Given the description of an element on the screen output the (x, y) to click on. 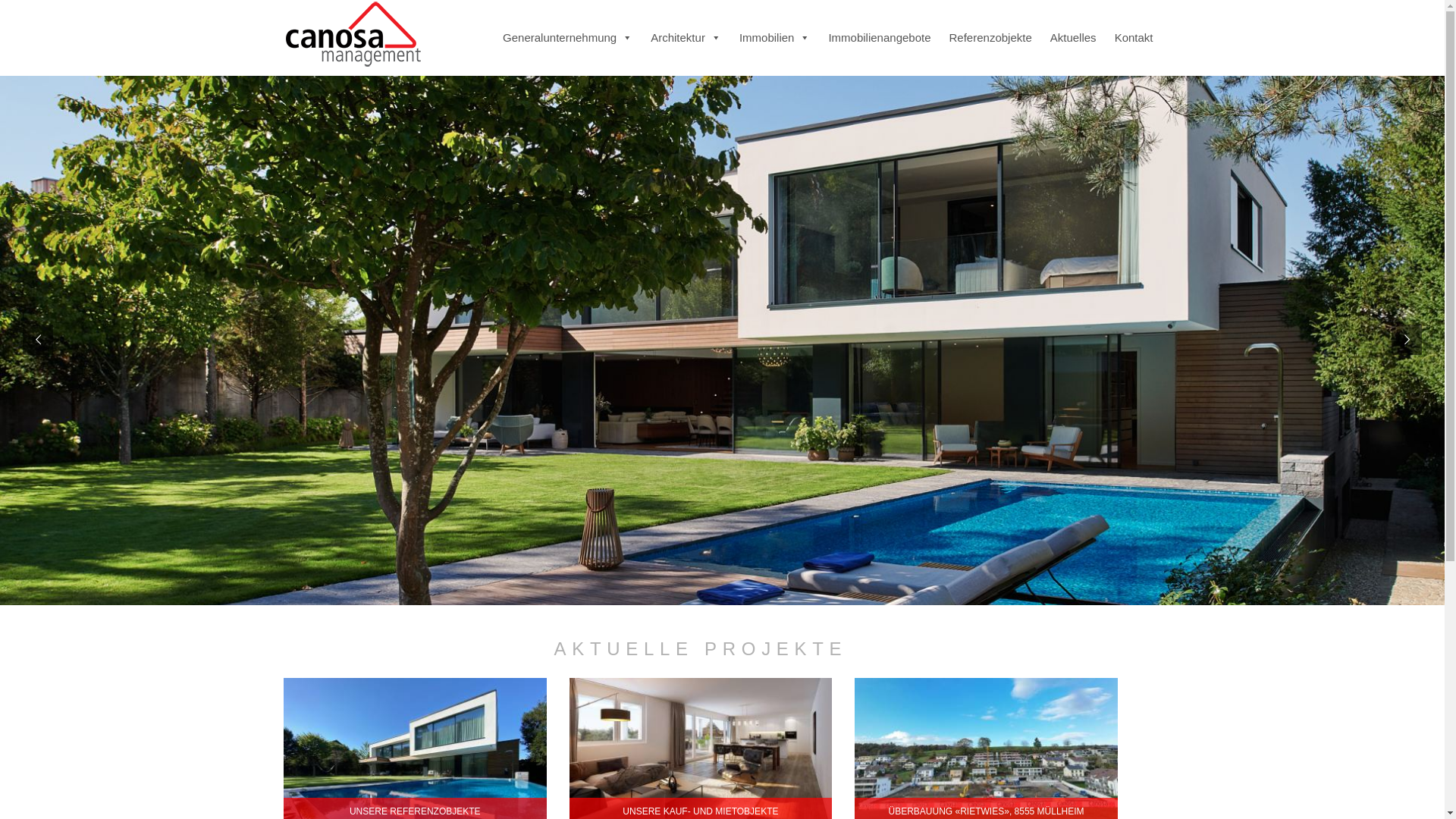
Kontakt Element type: text (1133, 37)
Referenzobjekte Element type: text (990, 37)
Architektur Element type: text (685, 37)
Generalunternehmung Element type: text (567, 37)
Canosa Immobilien Element type: hover (352, 32)
Skip to content Element type: text (543, 11)
Aktuelles Element type: text (1073, 37)
Immobilien Element type: text (774, 37)
Immobilienangebote Element type: text (879, 37)
